Given the description of an element on the screen output the (x, y) to click on. 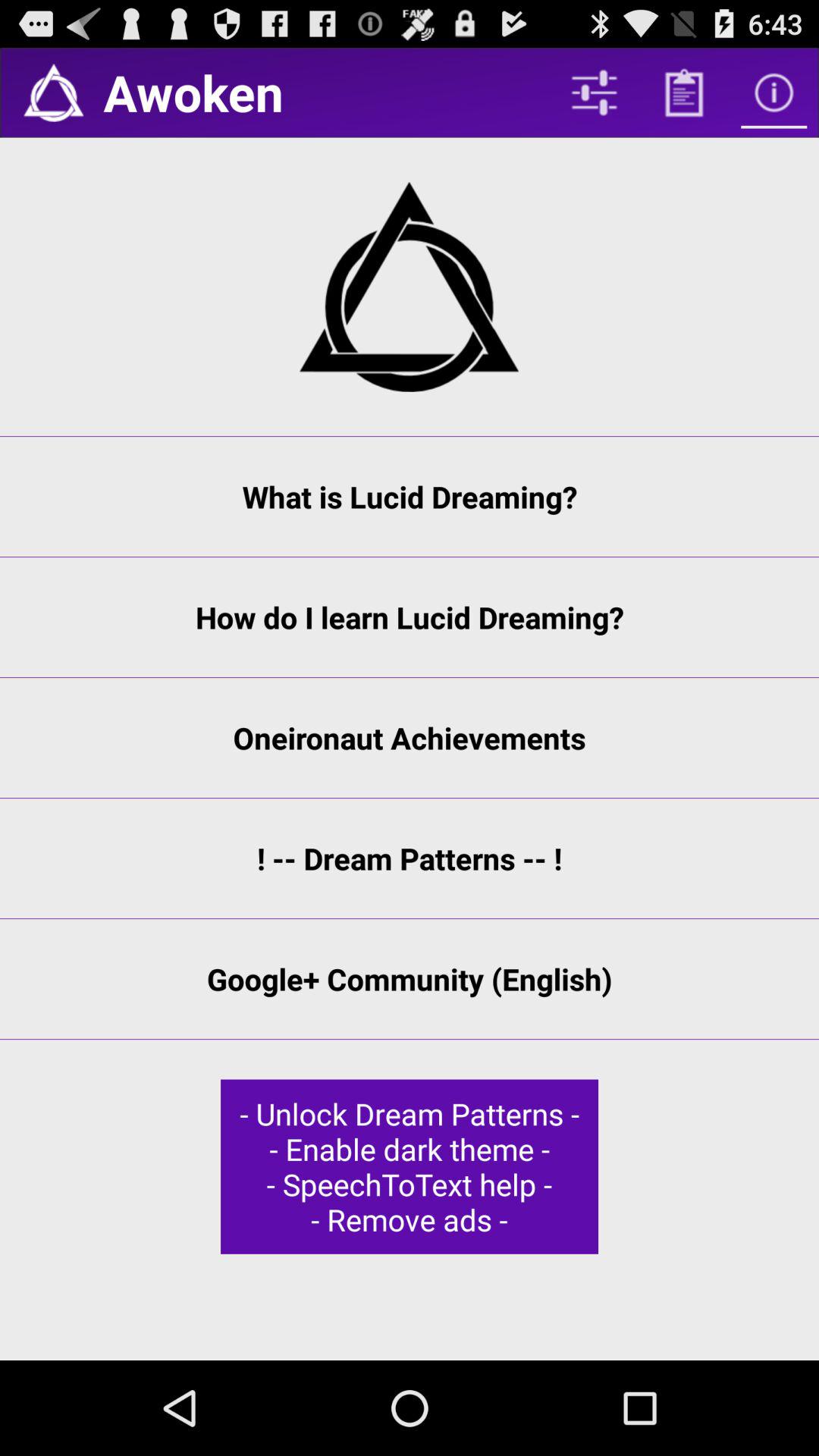
information (774, 92)
